Given the description of an element on the screen output the (x, y) to click on. 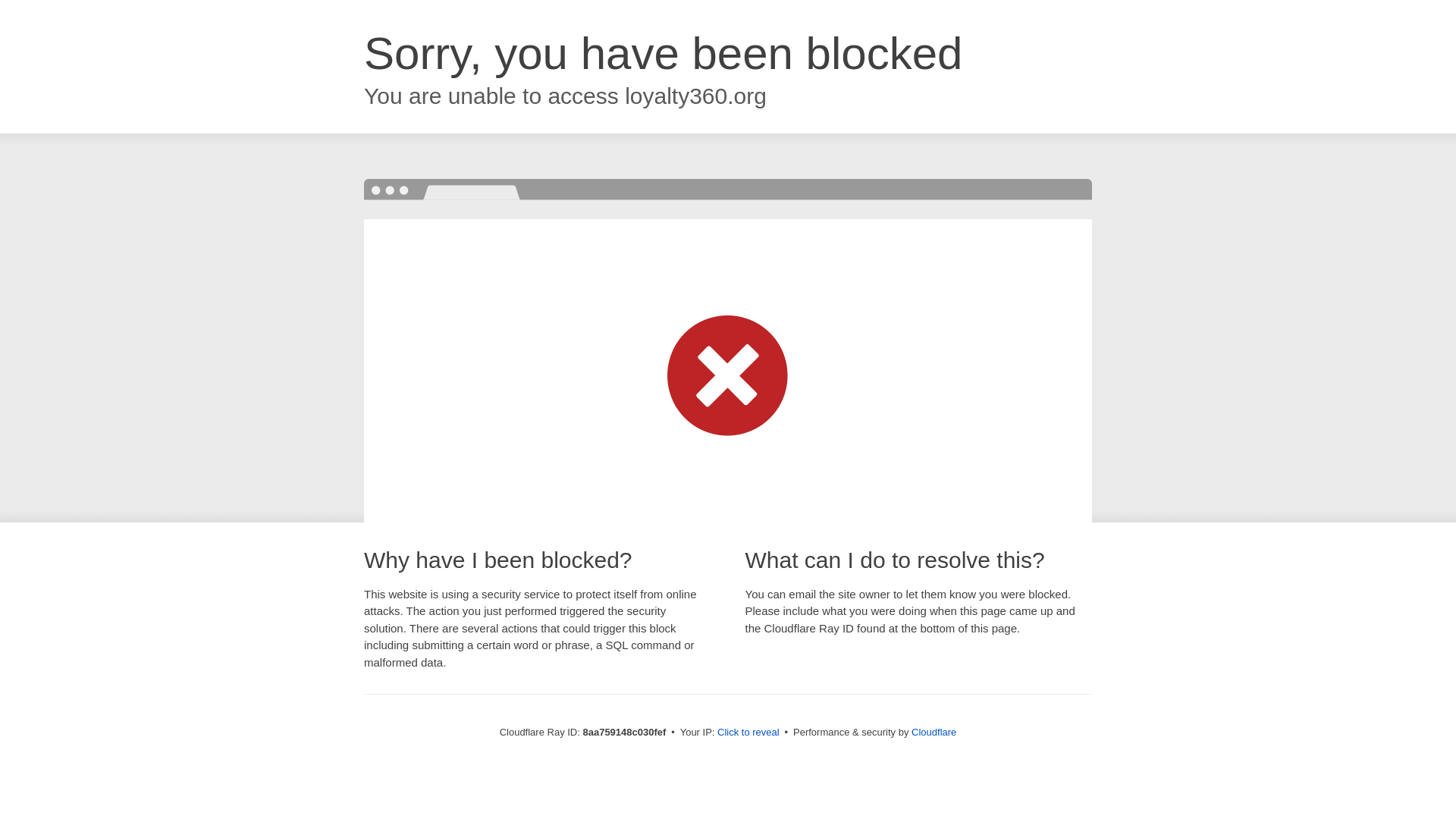
Cloudflare (933, 731)
Click to reveal (747, 732)
